Given the description of an element on the screen output the (x, y) to click on. 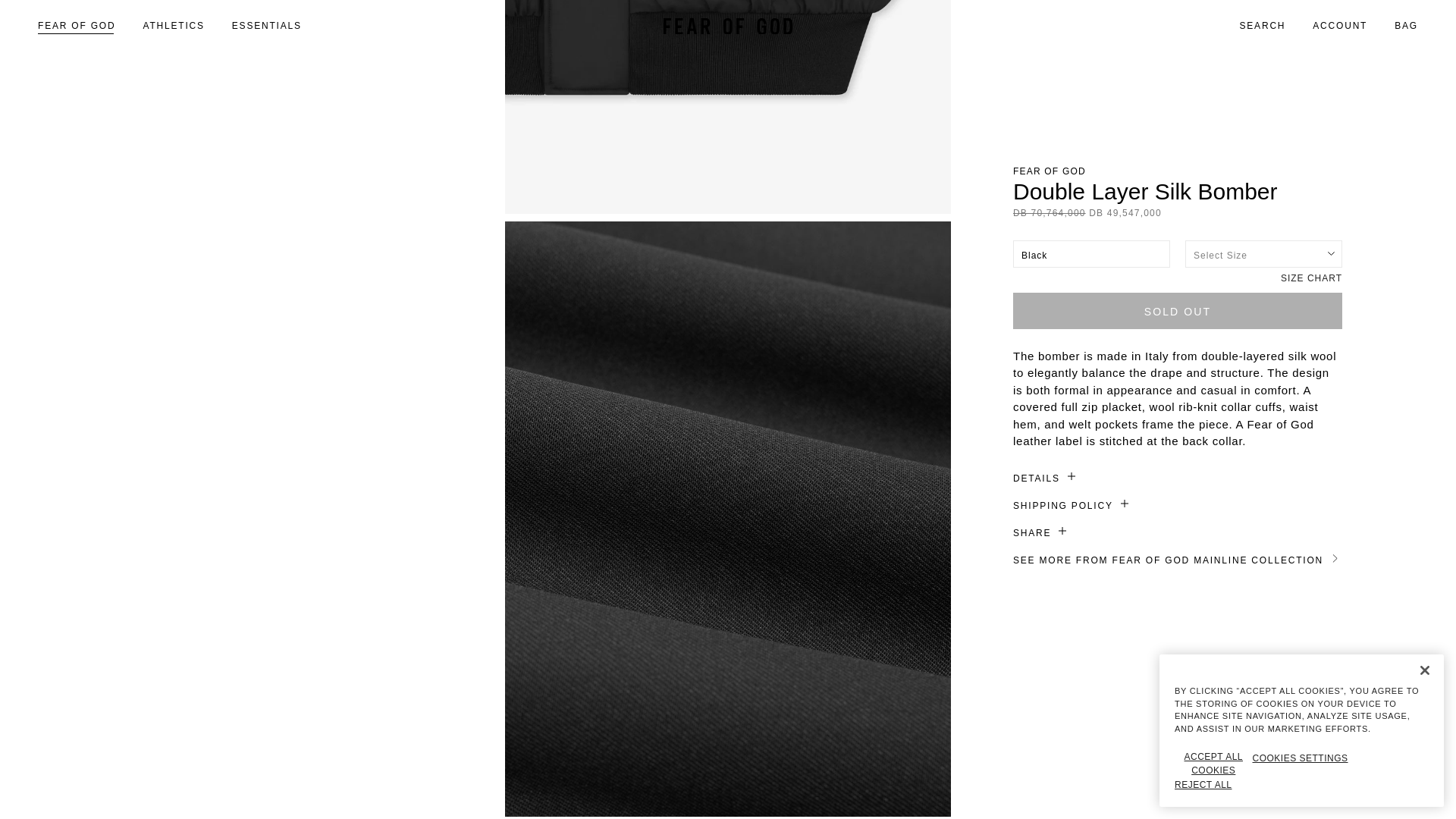
Double Layer Silk Bomber - Fear of God (727, 106)
